Given the description of an element on the screen output the (x, y) to click on. 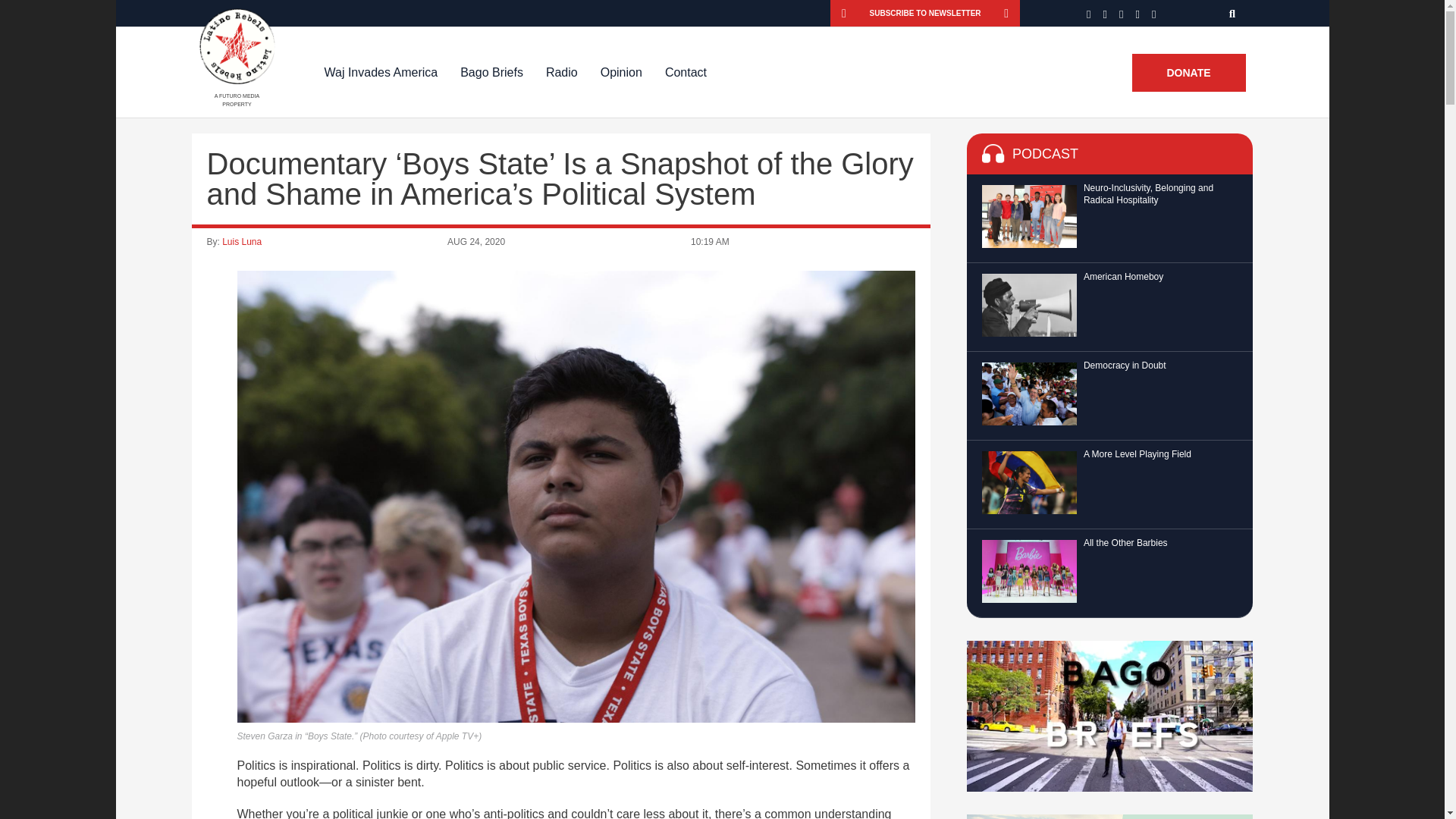
Opinion (621, 72)
DONATE (1187, 72)
Search (1233, 13)
Search (1233, 13)
Radio (561, 72)
Luis Luna (242, 241)
Bago Briefs (491, 72)
Contact (685, 72)
Waj Invades America (380, 72)
Search (1233, 13)
Contact (685, 72)
Subscribe to newsletter (924, 13)
Posts by Luis Luna (242, 241)
